Given the description of an element on the screen output the (x, y) to click on. 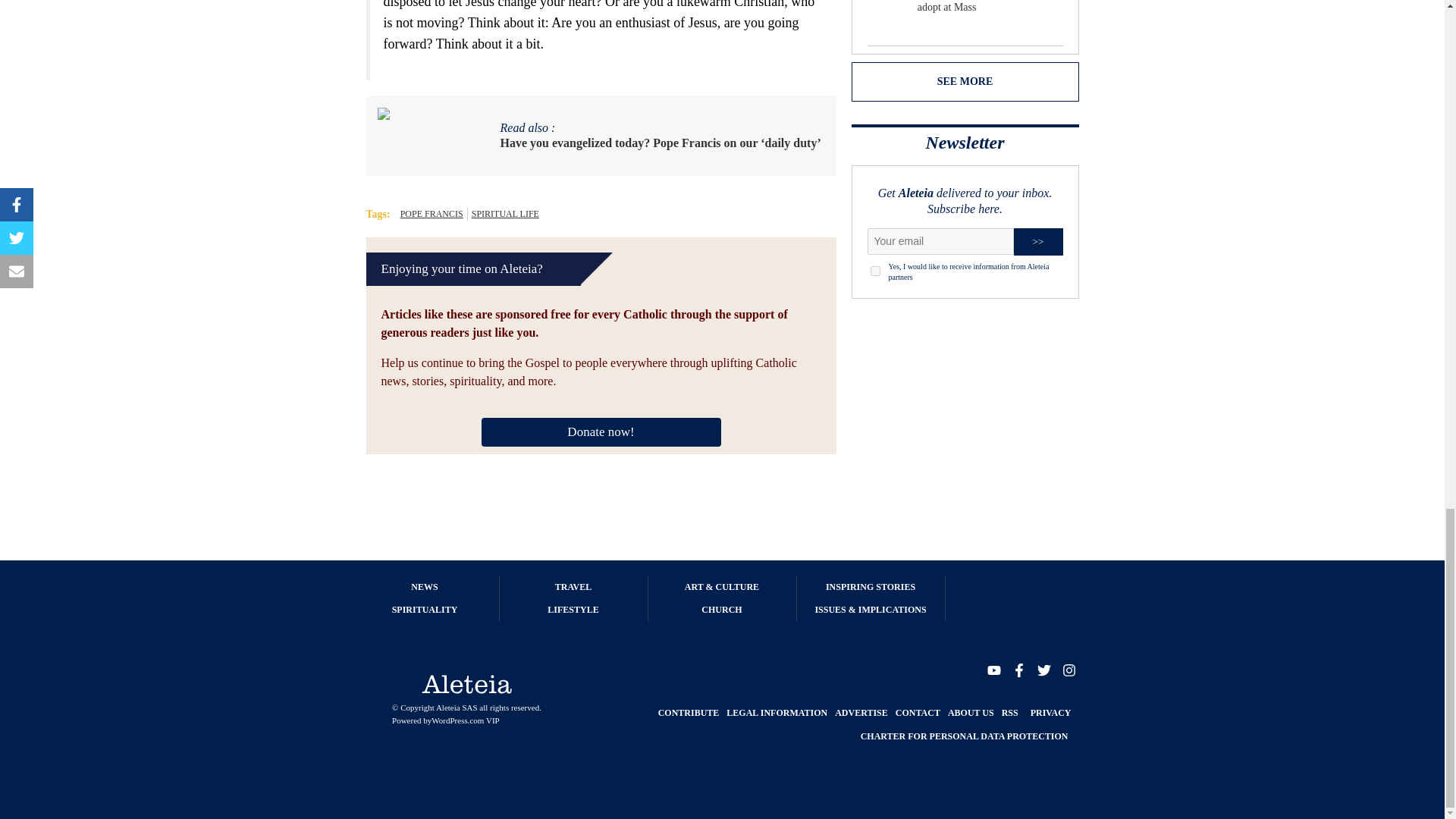
social-fb-footer (1018, 670)
social-yt-footer (994, 670)
social-ig-footer (1068, 670)
1 (875, 271)
POPE FRANCIS (431, 214)
